Given the description of an element on the screen output the (x, y) to click on. 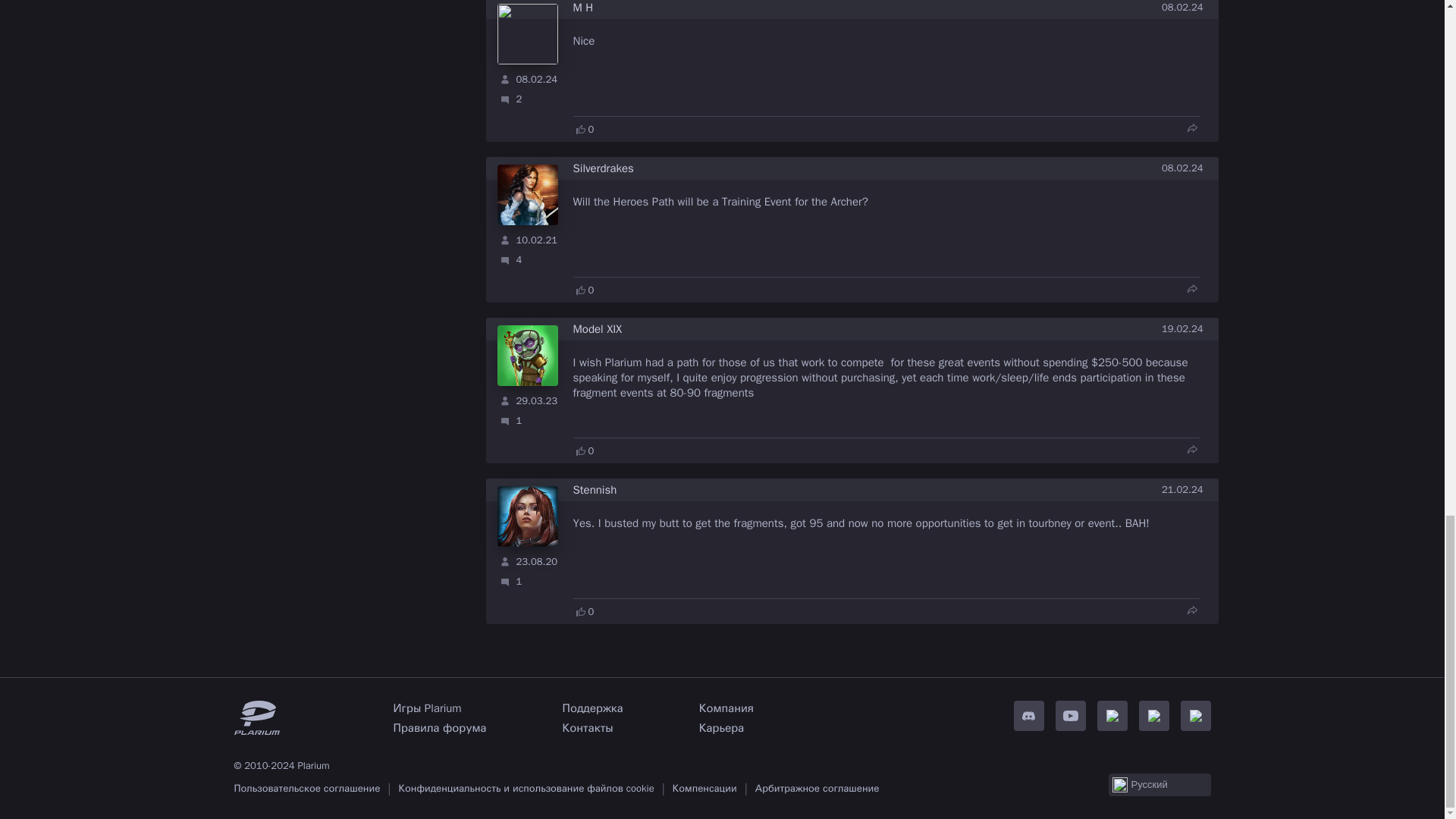
Silverdrakes (603, 169)
Stennish (595, 490)
M H (583, 8)
Model XIX (598, 329)
